Given the description of an element on the screen output the (x, y) to click on. 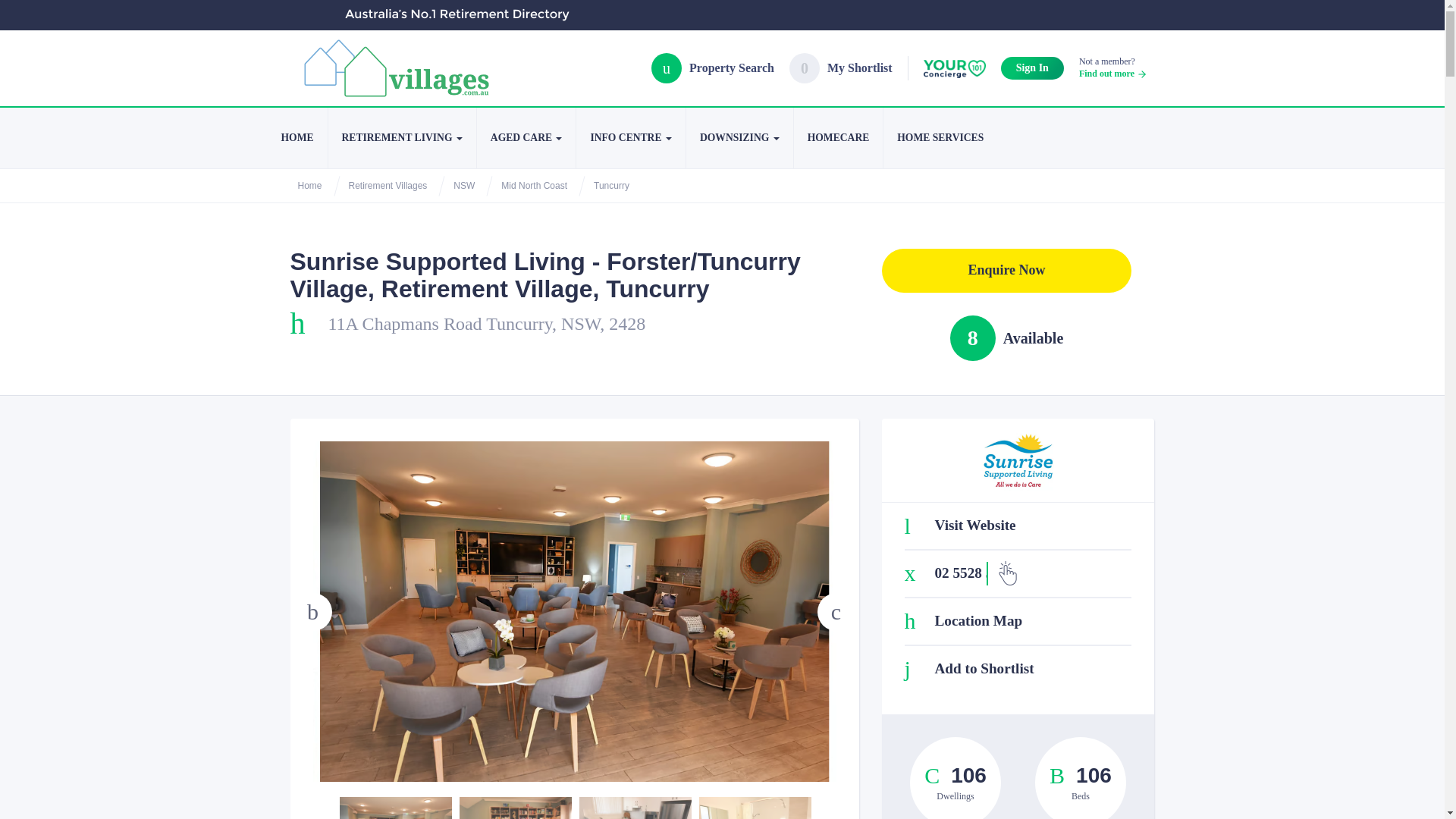
AGED CARE (526, 137)
INFO CENTRE (629, 137)
High care and low care nursing homes (739, 137)
Property Search (712, 67)
DOWNSIZING (739, 137)
HOME (296, 137)
Back to the Home Page (296, 137)
RETIREMENT LIVING (1112, 67)
